Given the description of an element on the screen output the (x, y) to click on. 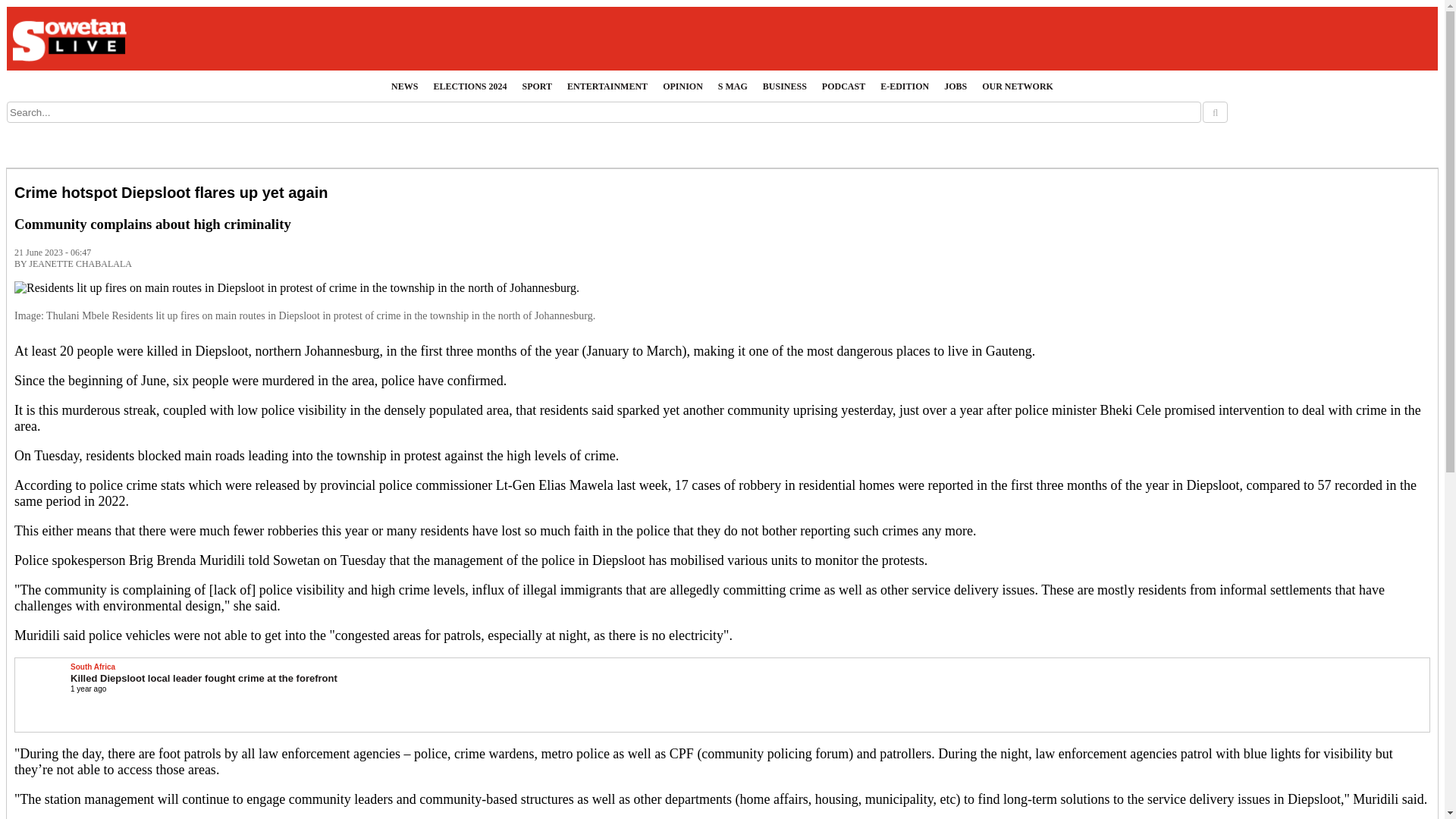
ELECTIONS 2024 (469, 86)
JOBS (954, 86)
BUSINESS (784, 86)
OPINION (682, 86)
PODCAST (842, 86)
OUR NETWORK (1017, 86)
SPORT (536, 86)
E-EDITION (904, 86)
NEWS (404, 86)
Killed Diepsloot local leader fought crime at the forefront (203, 677)
ENTERTAINMENT (606, 86)
search (1214, 111)
S MAG (732, 86)
